Given the description of an element on the screen output the (x, y) to click on. 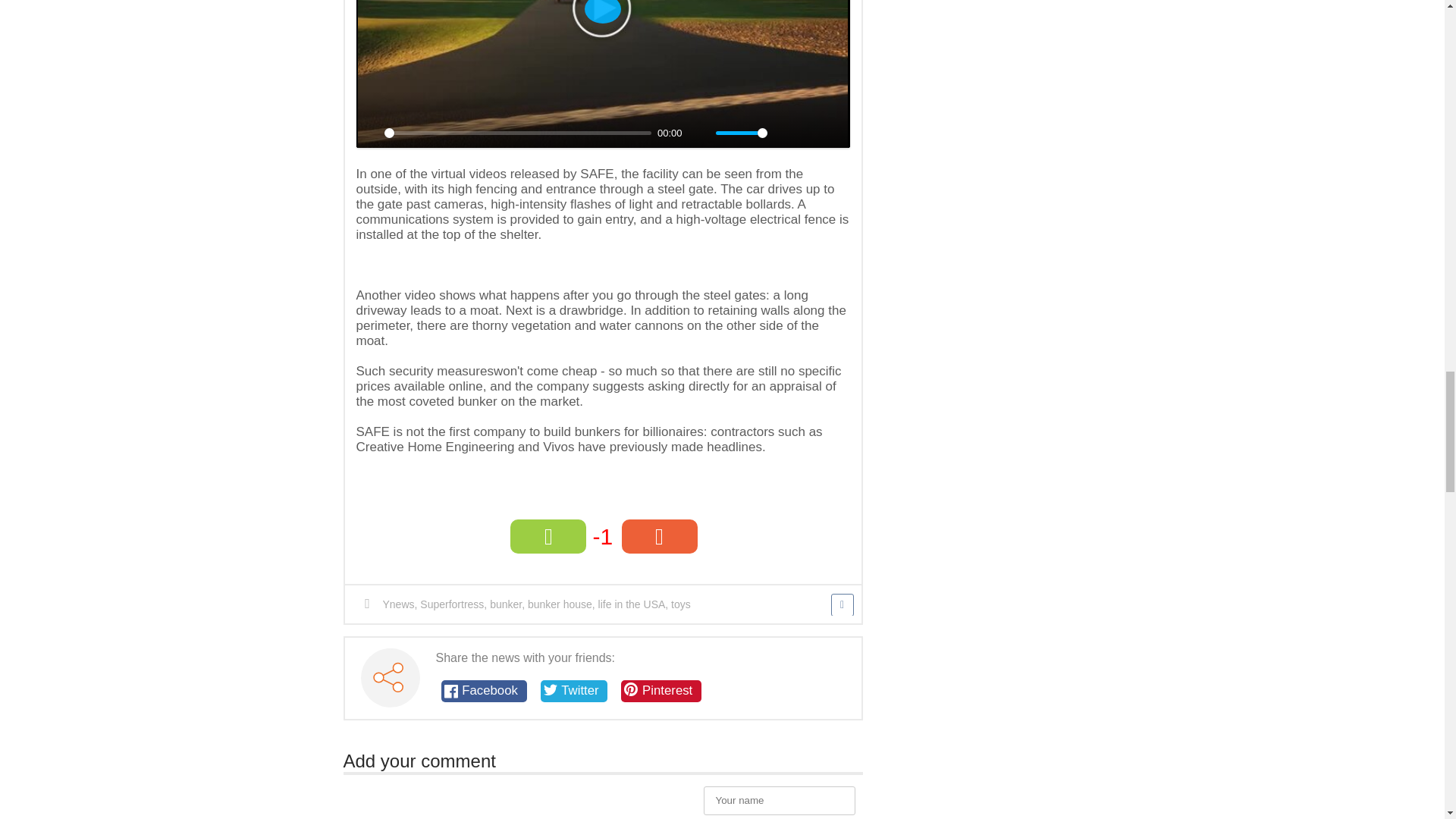
0 (517, 133)
1 (741, 133)
